Given the description of an element on the screen output the (x, y) to click on. 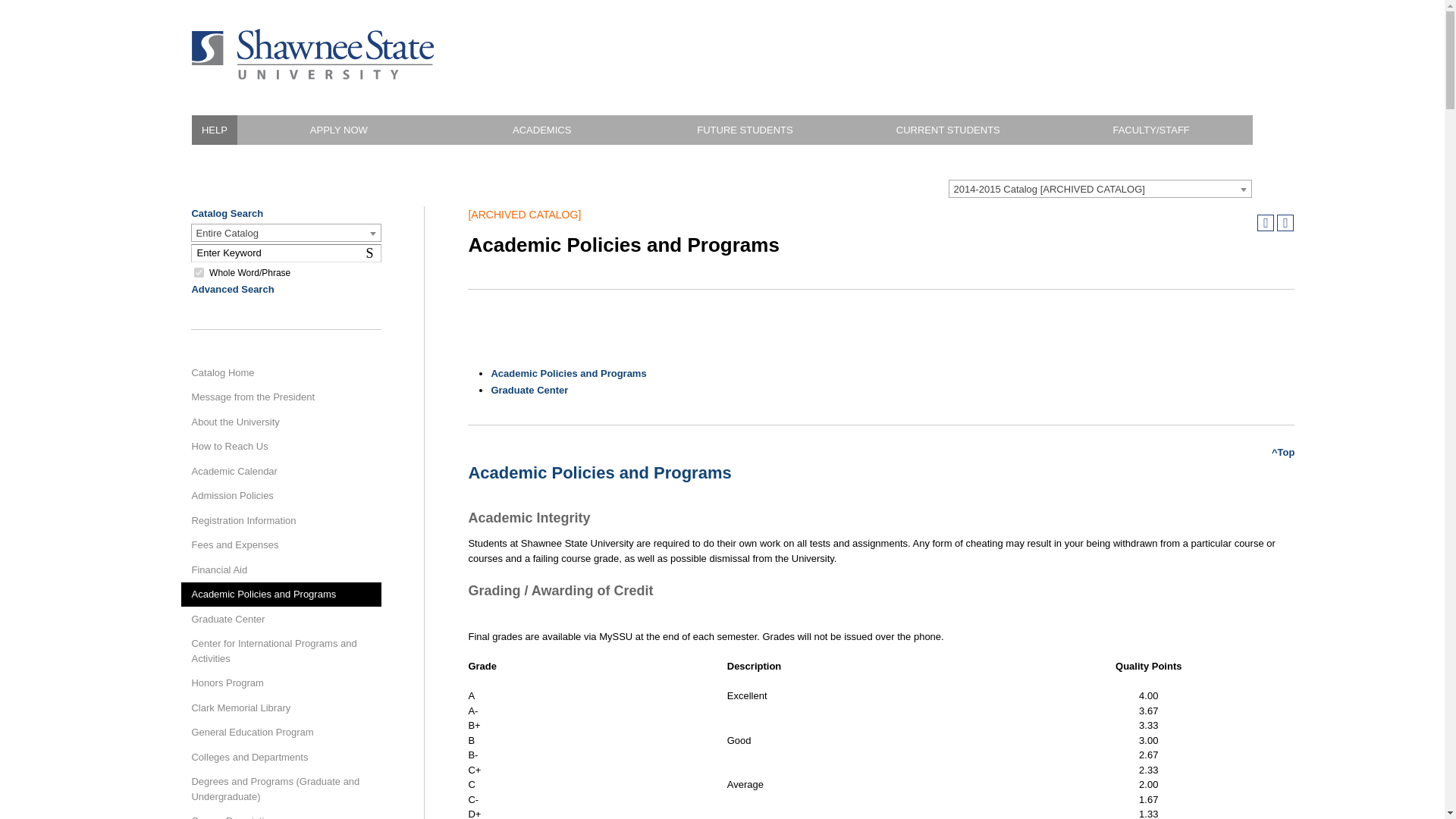
Entire Catalog (286, 233)
Admission Policies (280, 496)
Academic Policies and Programs (280, 594)
CURRENT STUDENTS (947, 129)
About the University (280, 421)
FUTURE STUDENTS (745, 129)
General Education Program (280, 732)
Financial Aid (280, 569)
Exact Match (198, 272)
Center for International Programs and Activities (372, 252)
Enter Keyword   (280, 650)
Clark Memorial Library (285, 253)
1 (280, 707)
